Given the description of an element on the screen output the (x, y) to click on. 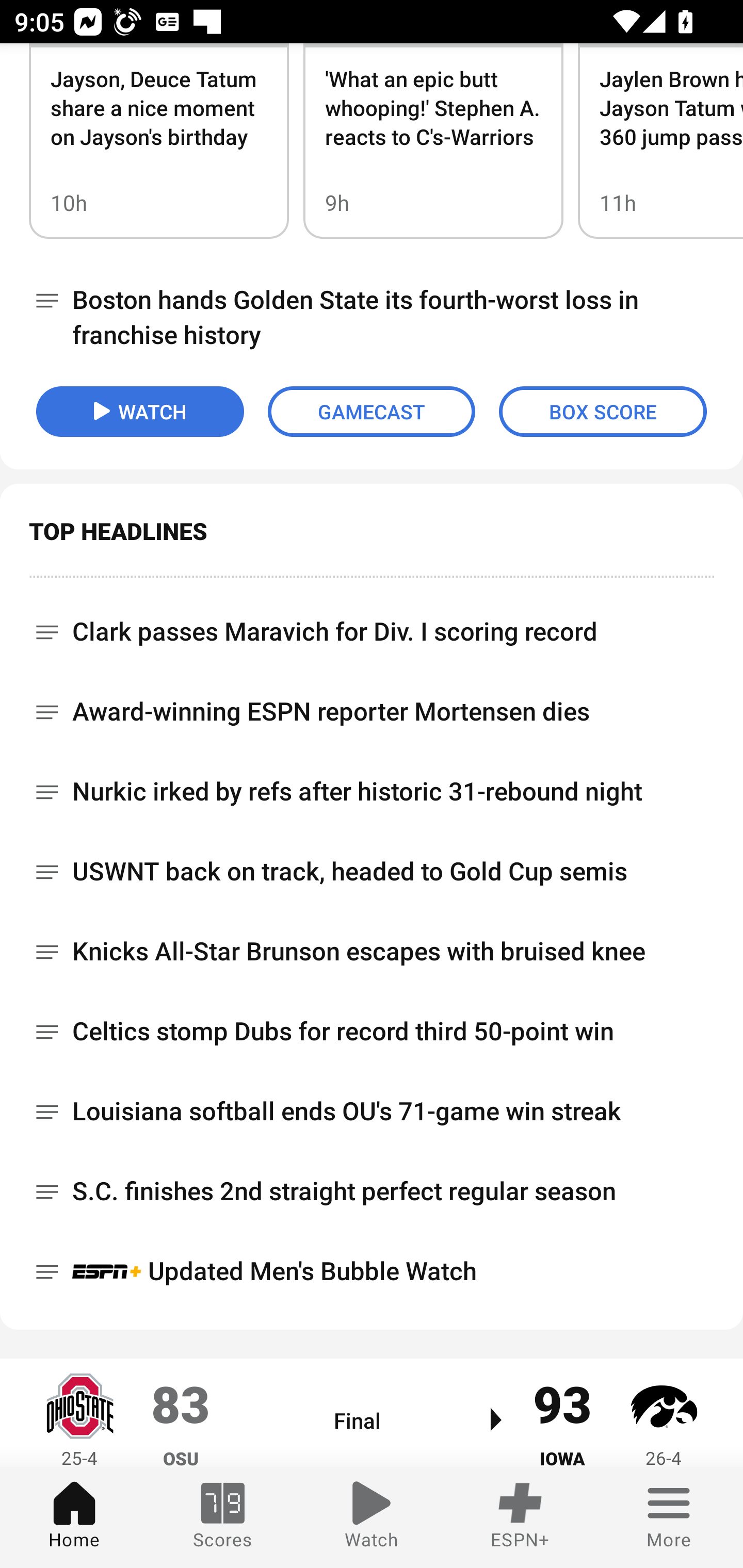
 WATCH (139, 411)
GAMECAST (371, 411)
BOX SCORE (602, 411)
 Clark passes Maravich for Div. I scoring record (371, 624)
 Award-winning ESPN reporter Mortensen dies (371, 712)
 USWNT back on track, headed to Gold Cup semis (371, 872)
 Celtics stomp Dubs for record third 50-point win (371, 1032)
 Louisiana softball ends OU's 71-game win streak (371, 1112)
Scores (222, 1517)
Watch (371, 1517)
ESPN+ (519, 1517)
More (668, 1517)
